Given the description of an element on the screen output the (x, y) to click on. 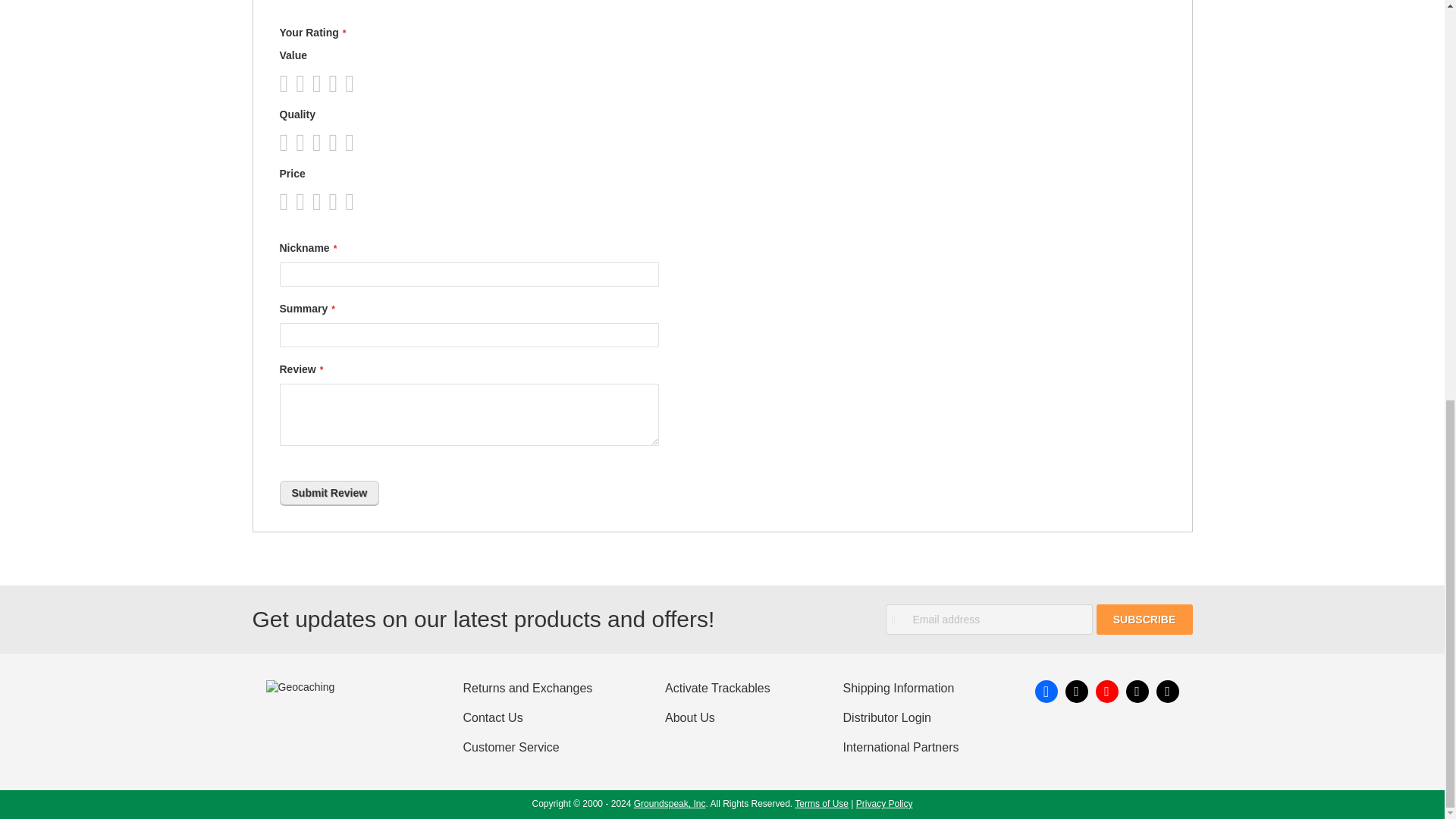
5 stars (320, 142)
1 star (287, 83)
3 stars (304, 83)
5 stars (320, 83)
4 stars (312, 142)
1 star (287, 142)
3 stars (304, 142)
2 stars (295, 142)
